Given the description of an element on the screen output the (x, y) to click on. 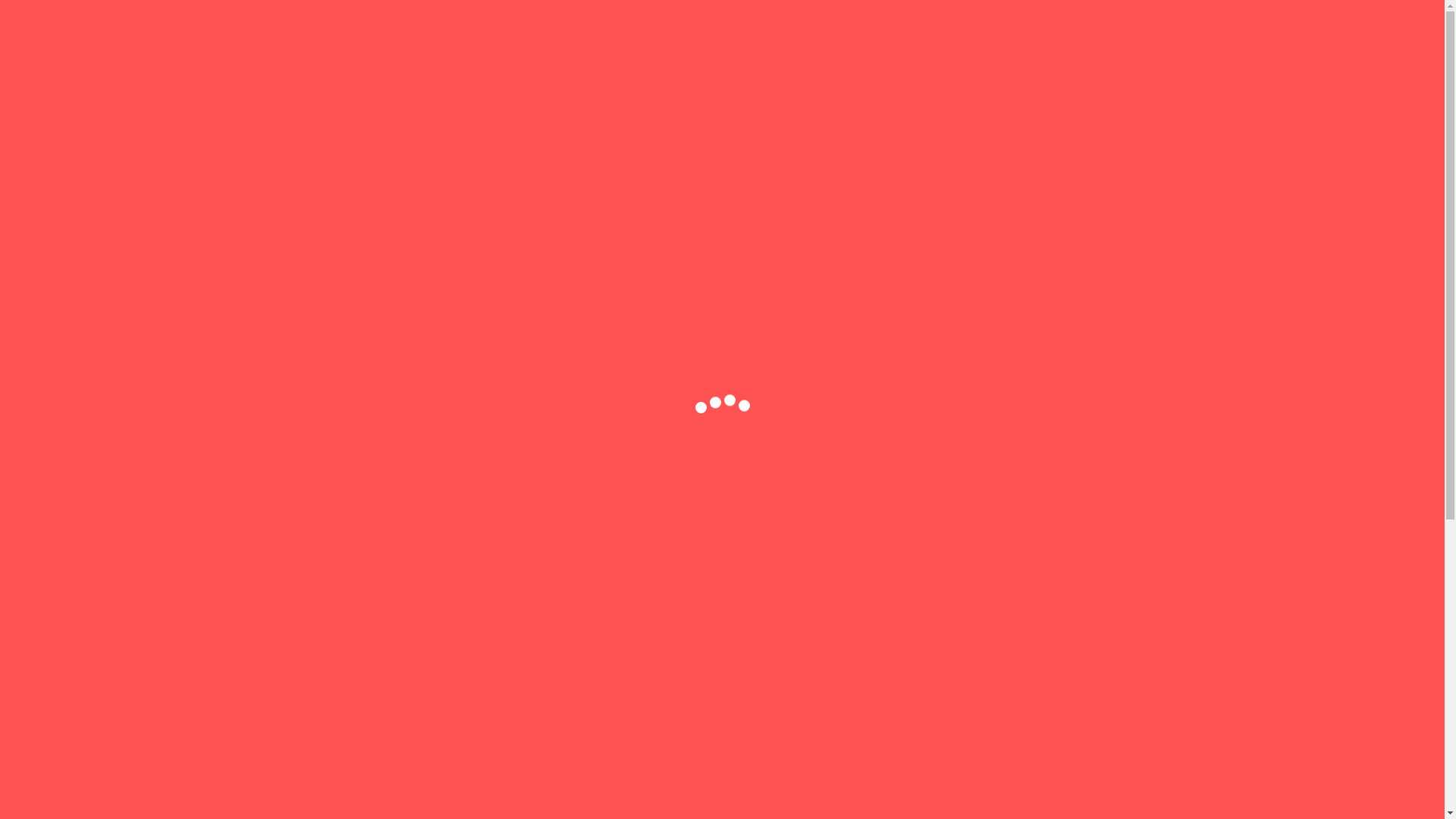
VIRTUAL ATS Element type: text (602, 81)
+99412 488 66 06 Element type: text (1005, 26)
BLOQ Element type: text (1084, 81)
info@azerizone.net Element type: text (866, 26)
AVADANLIQLAR Element type: text (772, 81)
Daxil ol Element type: text (1119, 26)
